Given the description of an element on the screen output the (x, y) to click on. 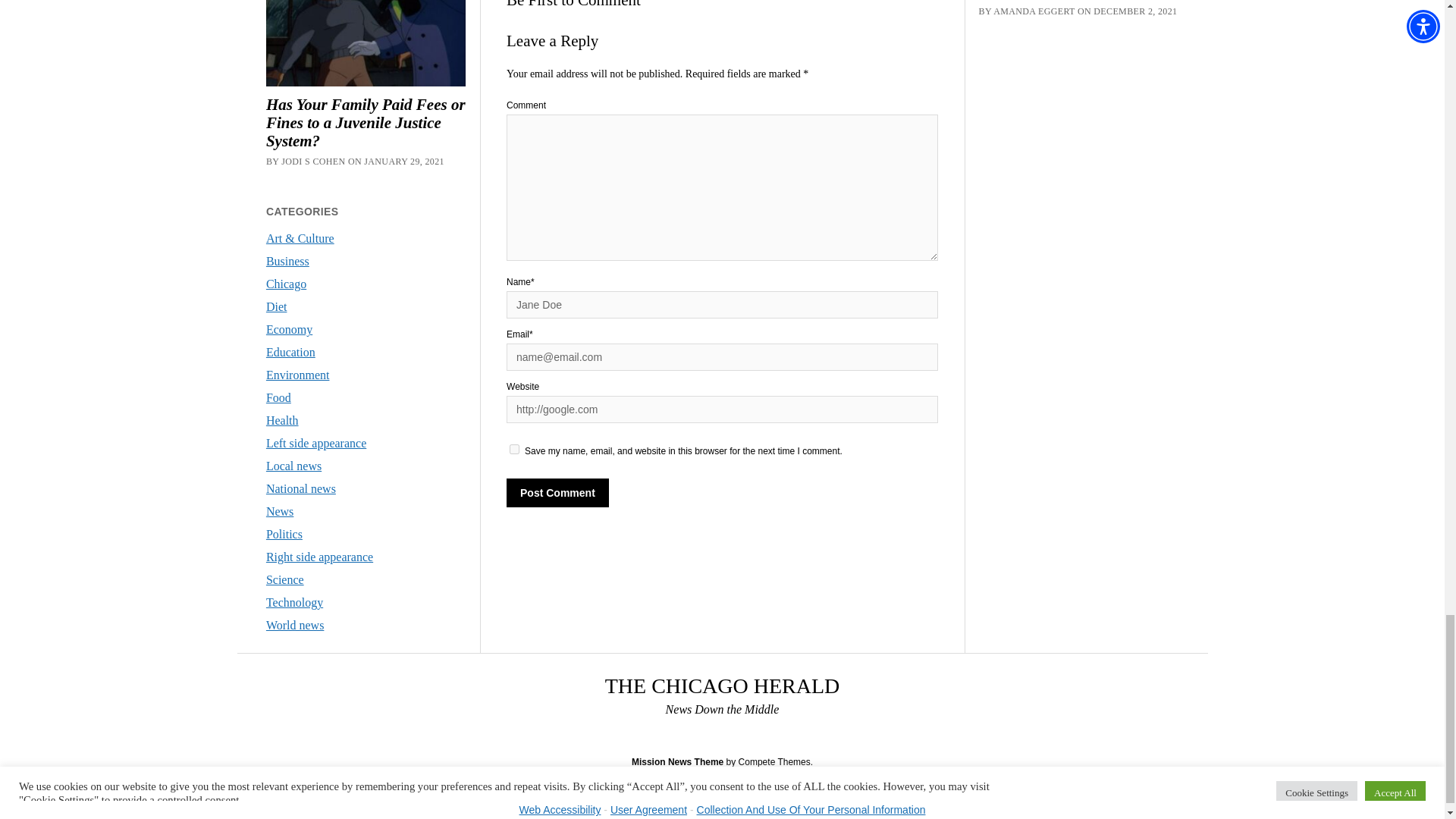
Post Comment (557, 492)
yes (514, 449)
